Given the description of an element on the screen output the (x, y) to click on. 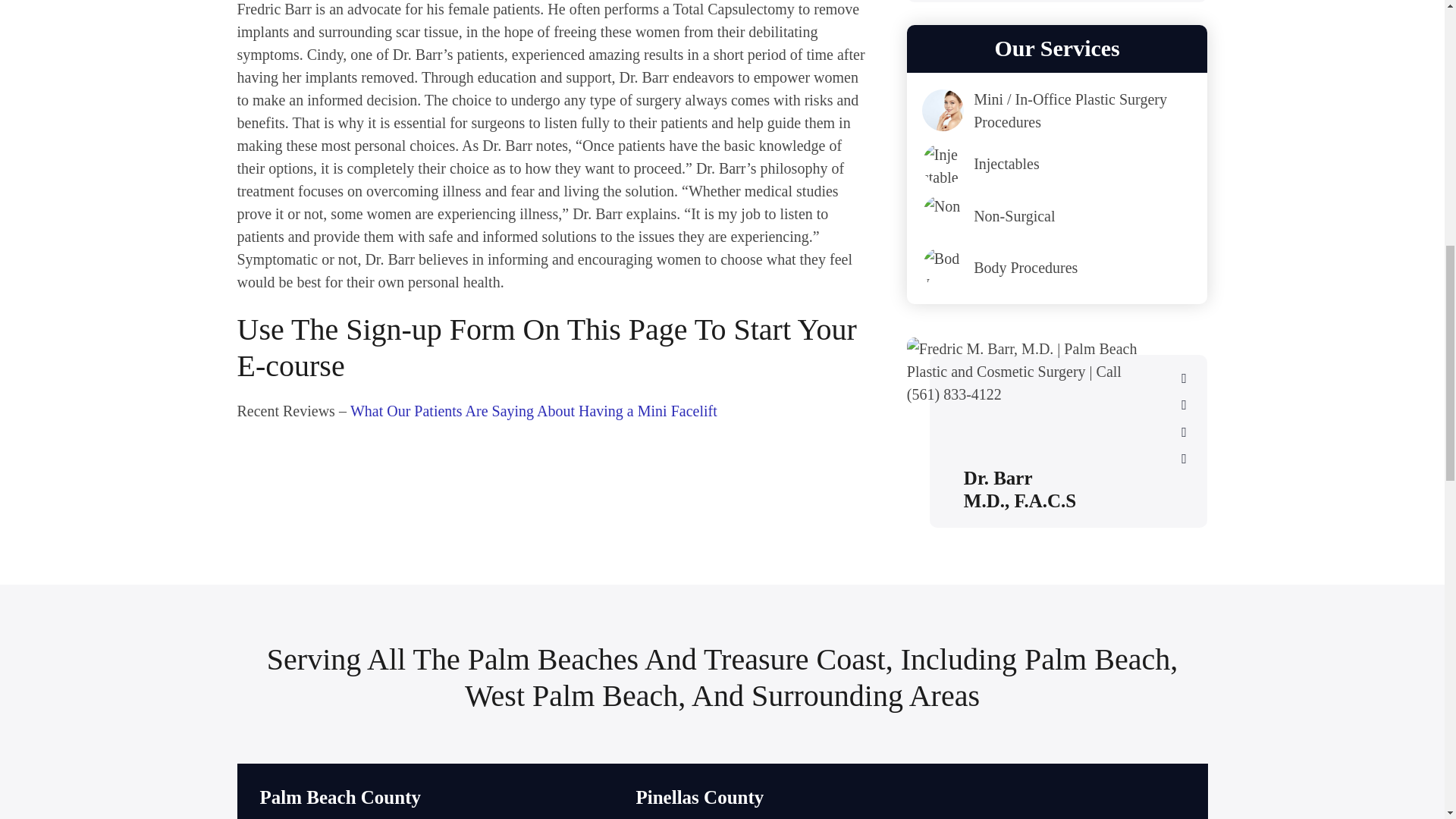
Visit our Twitter profile (1183, 404)
Visit our Facebook profile (1183, 378)
Visit our LinkedIn profile (1183, 432)
Body Procedures (1056, 268)
Injectables (1056, 164)
Non-Surgical (1056, 215)
Visit our YouTube profile (1183, 458)
